Given the description of an element on the screen output the (x, y) to click on. 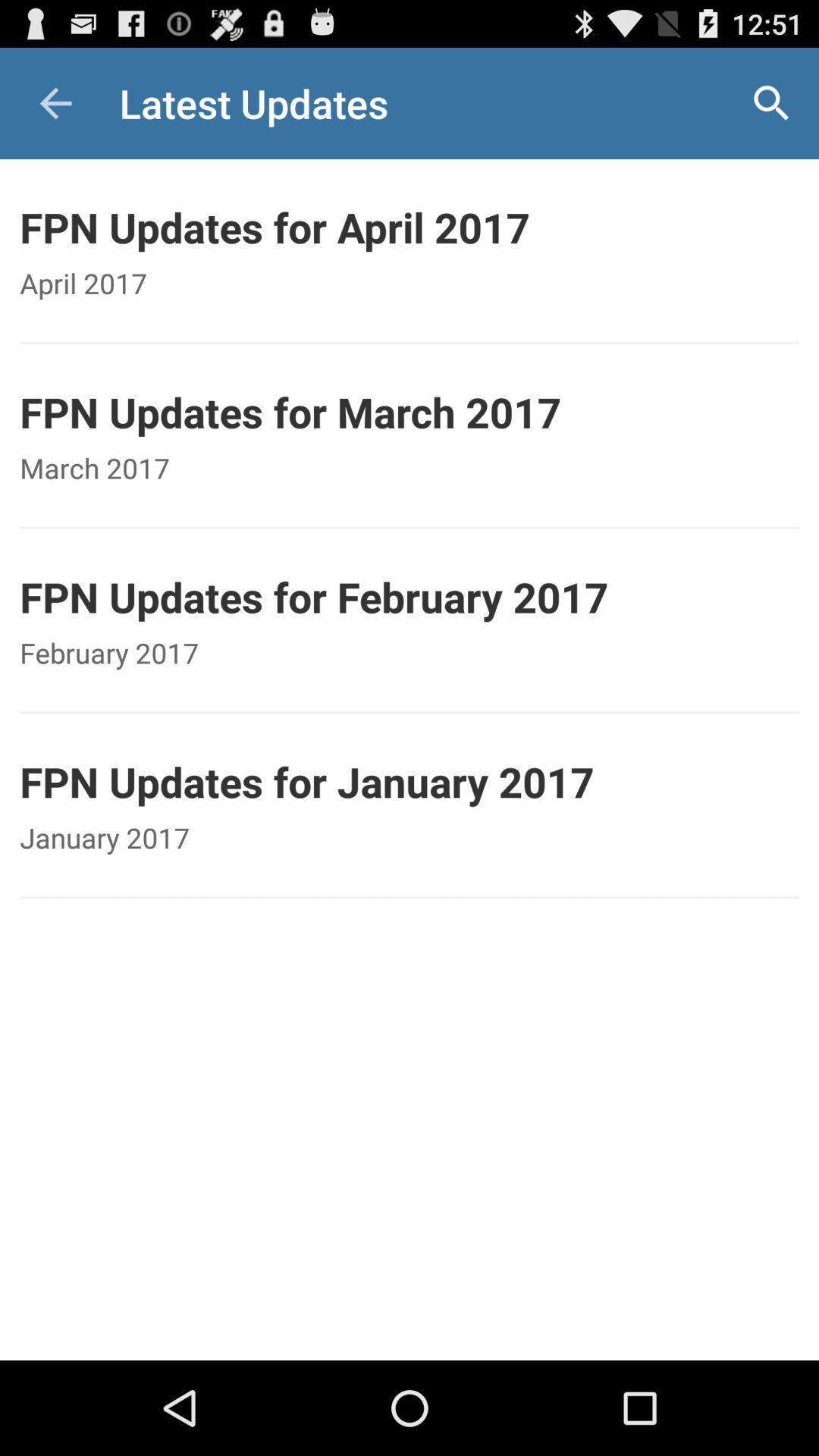
turn off the icon next to the latest updates app (771, 103)
